Given the description of an element on the screen output the (x, y) to click on. 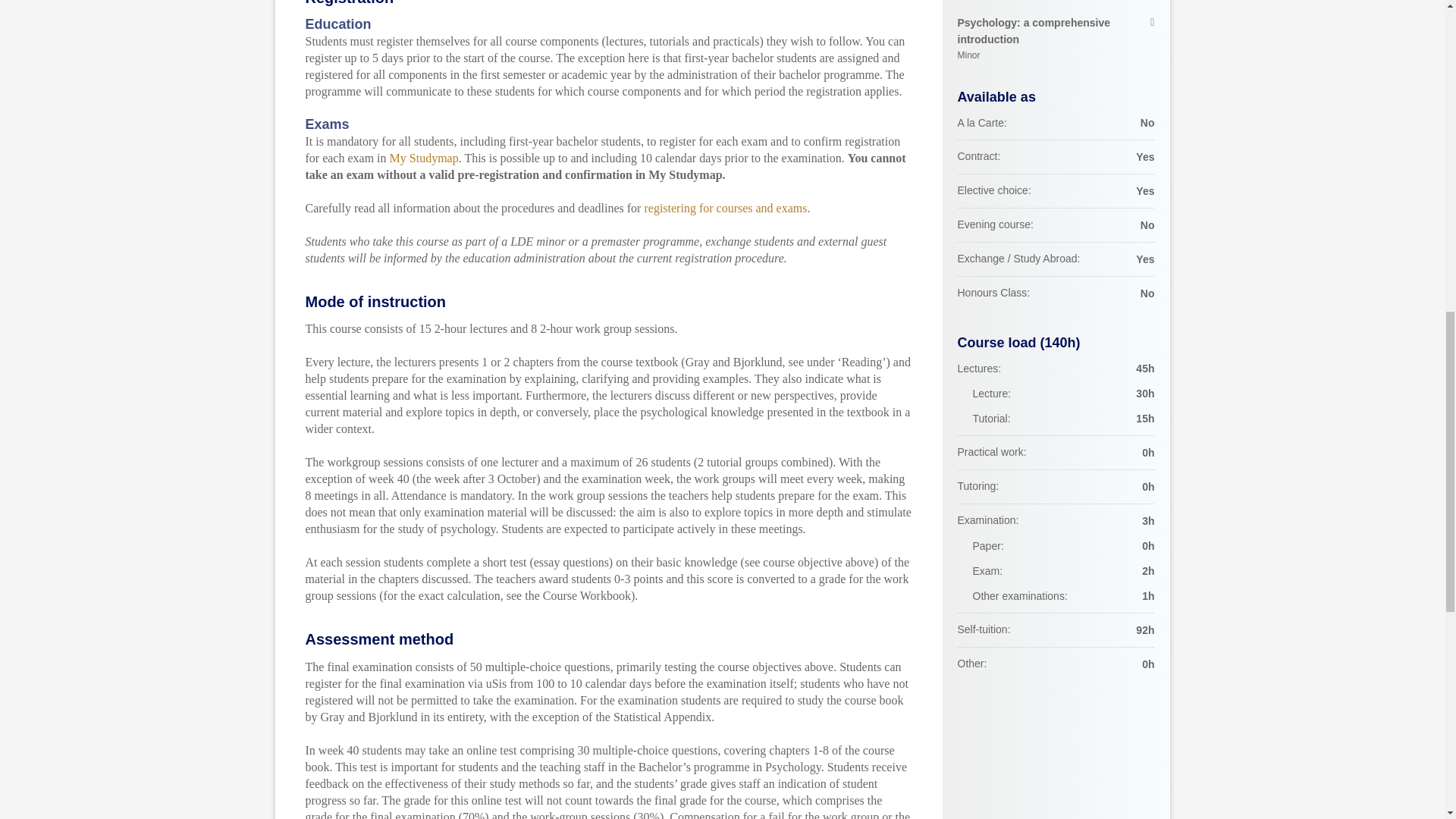
My Studymap (1055, 39)
registering for courses and exams (424, 157)
